Given the description of an element on the screen output the (x, y) to click on. 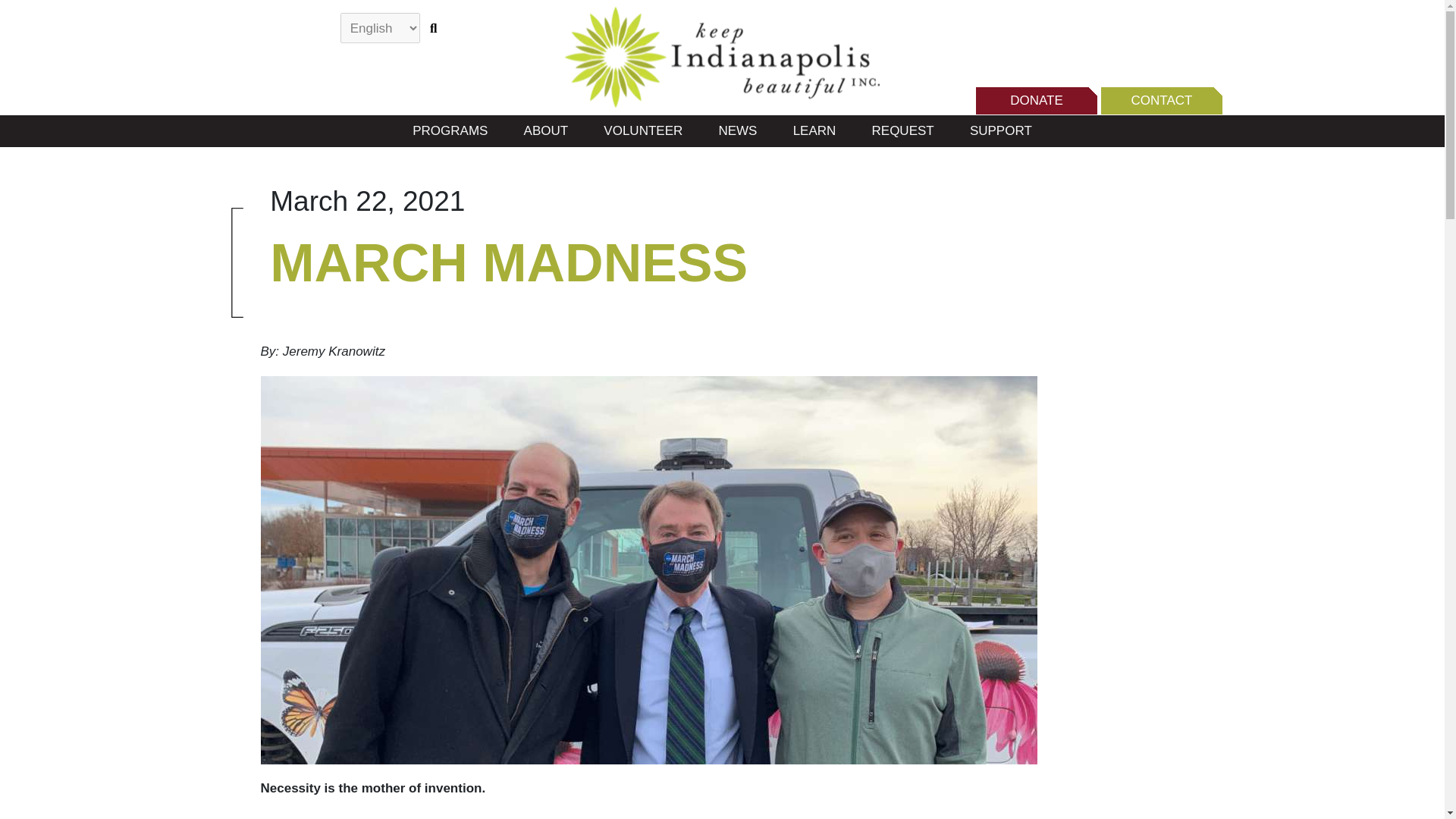
PROGRAMS (450, 131)
NEWS (737, 131)
CONTACT (1161, 100)
LEARN (814, 131)
VOLUNTEER (643, 131)
DONATE (1036, 100)
ABOUT (545, 131)
